Given the description of an element on the screen output the (x, y) to click on. 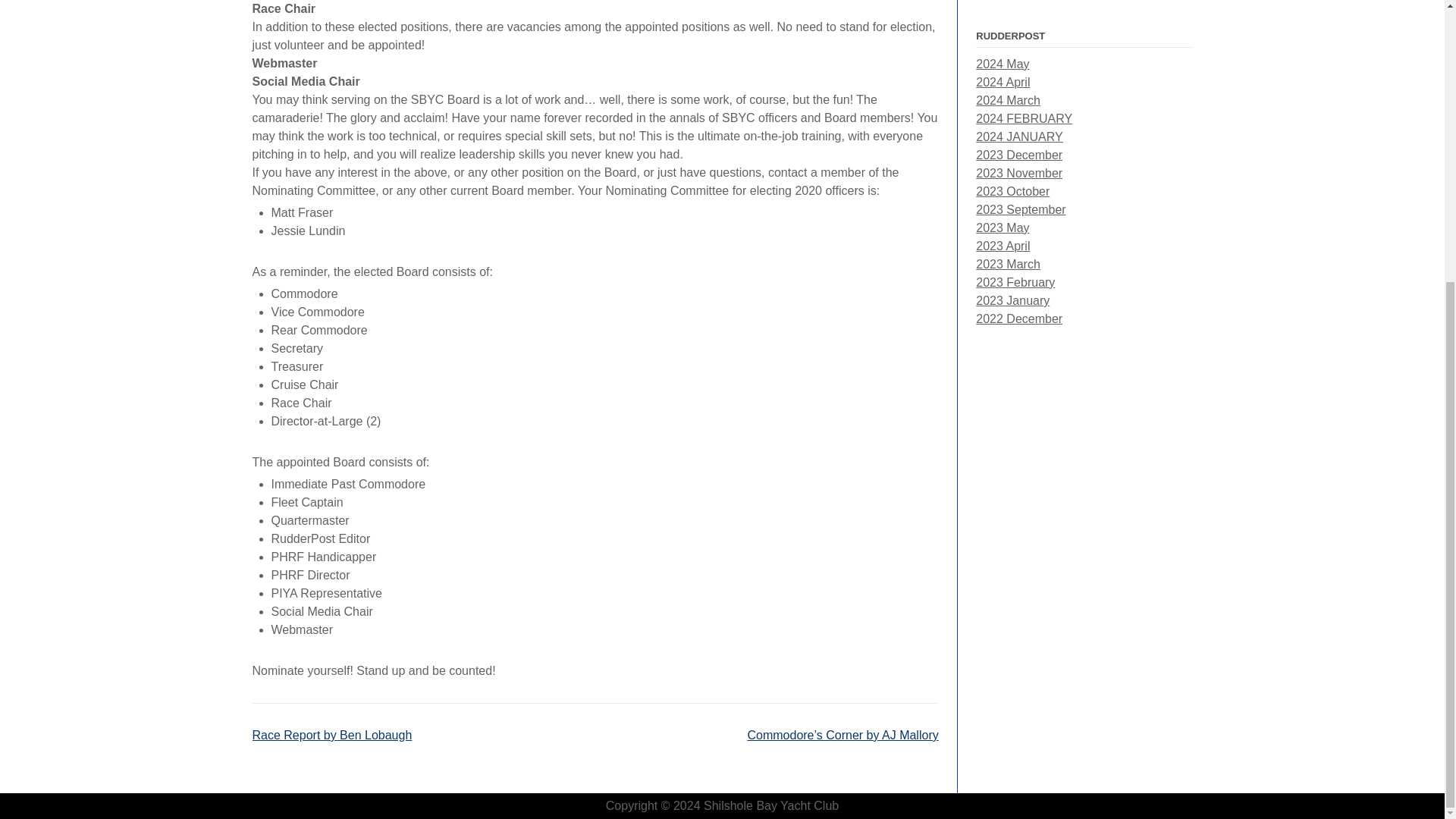
2022 December (1018, 33)
2023 January (1012, 15)
Race Report by Ben Lobaugh (331, 735)
2023 February (1014, 2)
